Given the description of an element on the screen output the (x, y) to click on. 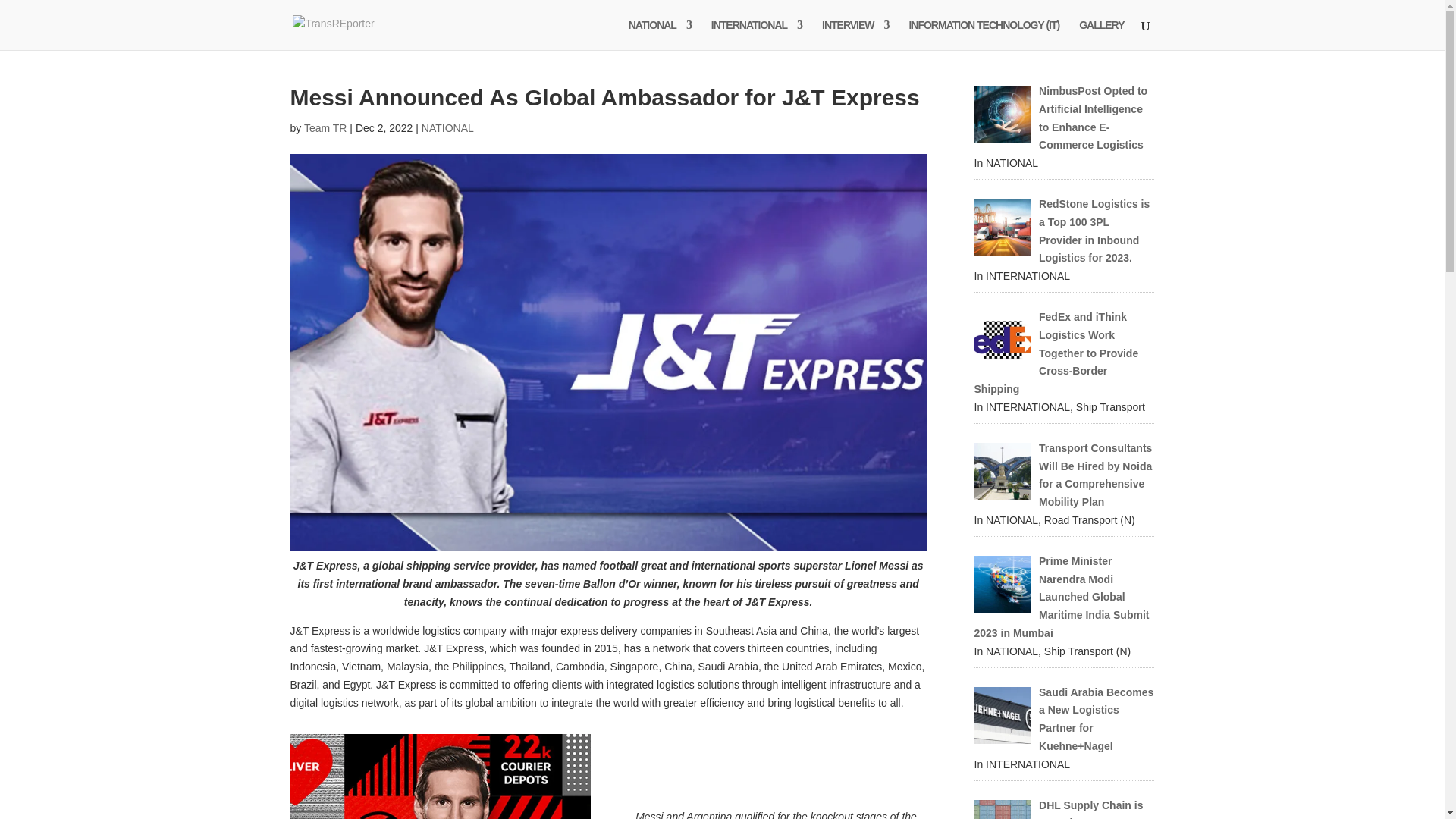
NATIONAL (659, 34)
GALLERY (1101, 34)
INTERNATIONAL (756, 34)
NATIONAL (448, 128)
Team TR (325, 128)
INTERVIEW (855, 34)
Posts by Team TR (325, 128)
